Given the description of an element on the screen output the (x, y) to click on. 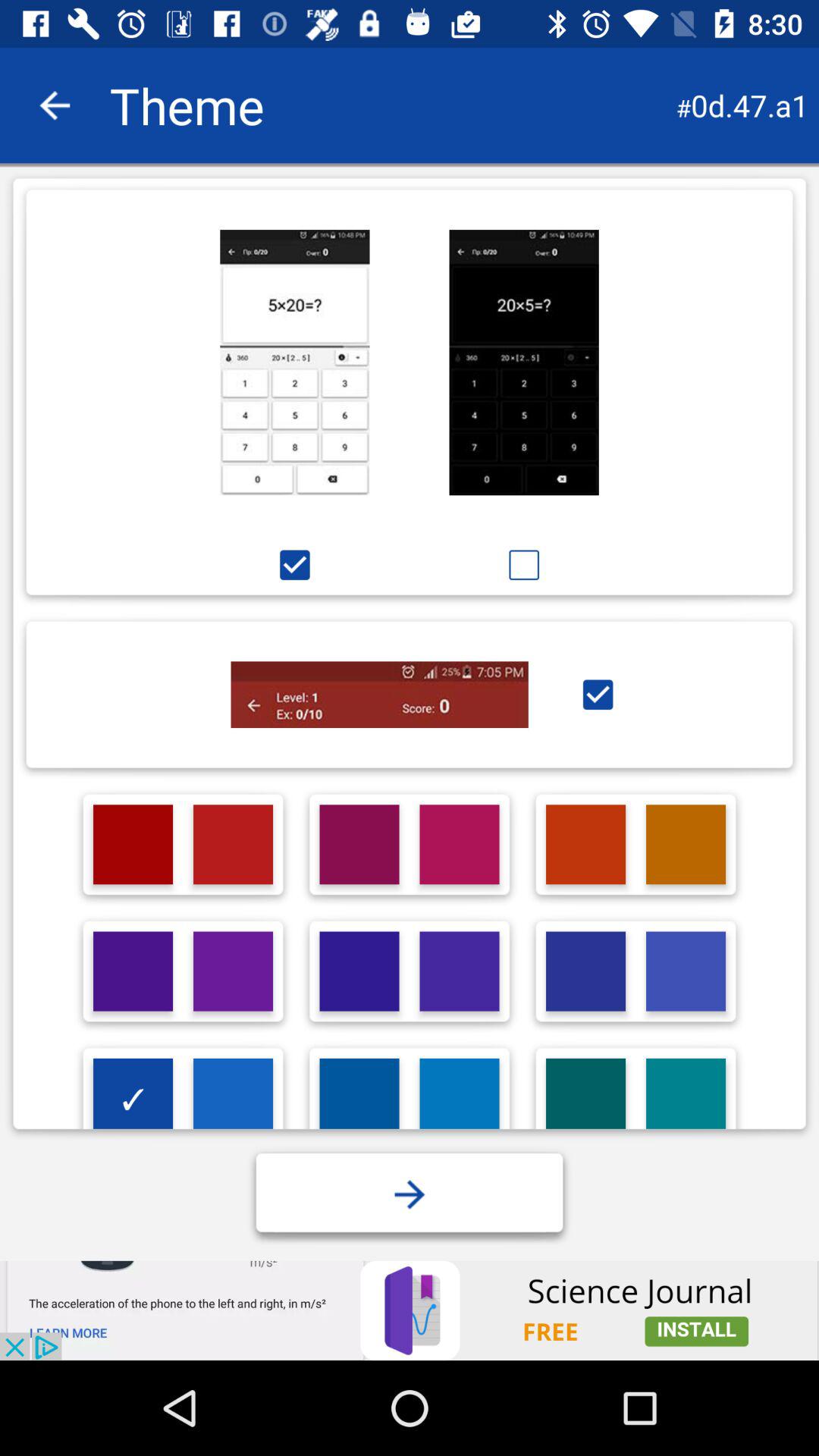
choose color (459, 1098)
